Given the description of an element on the screen output the (x, y) to click on. 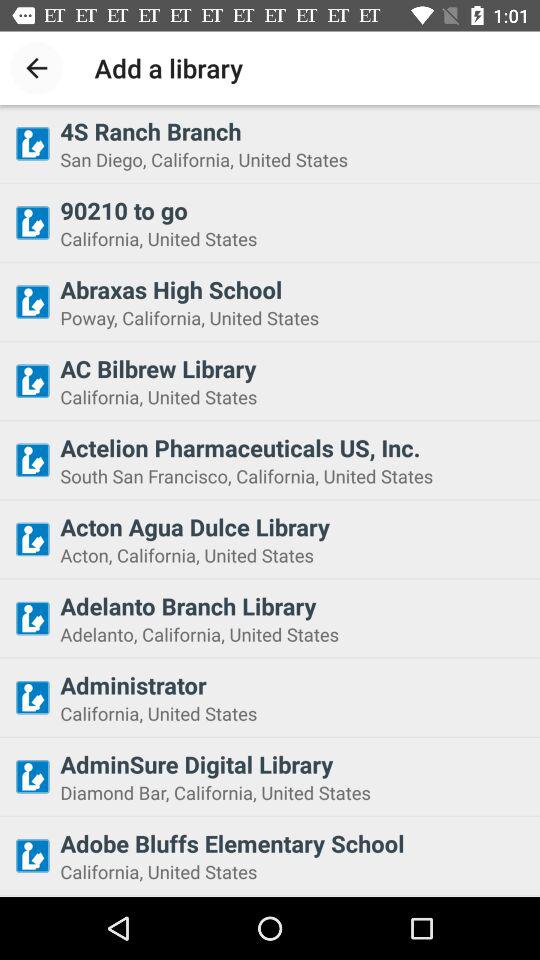
flip to diamond bar california item (294, 792)
